Given the description of an element on the screen output the (x, y) to click on. 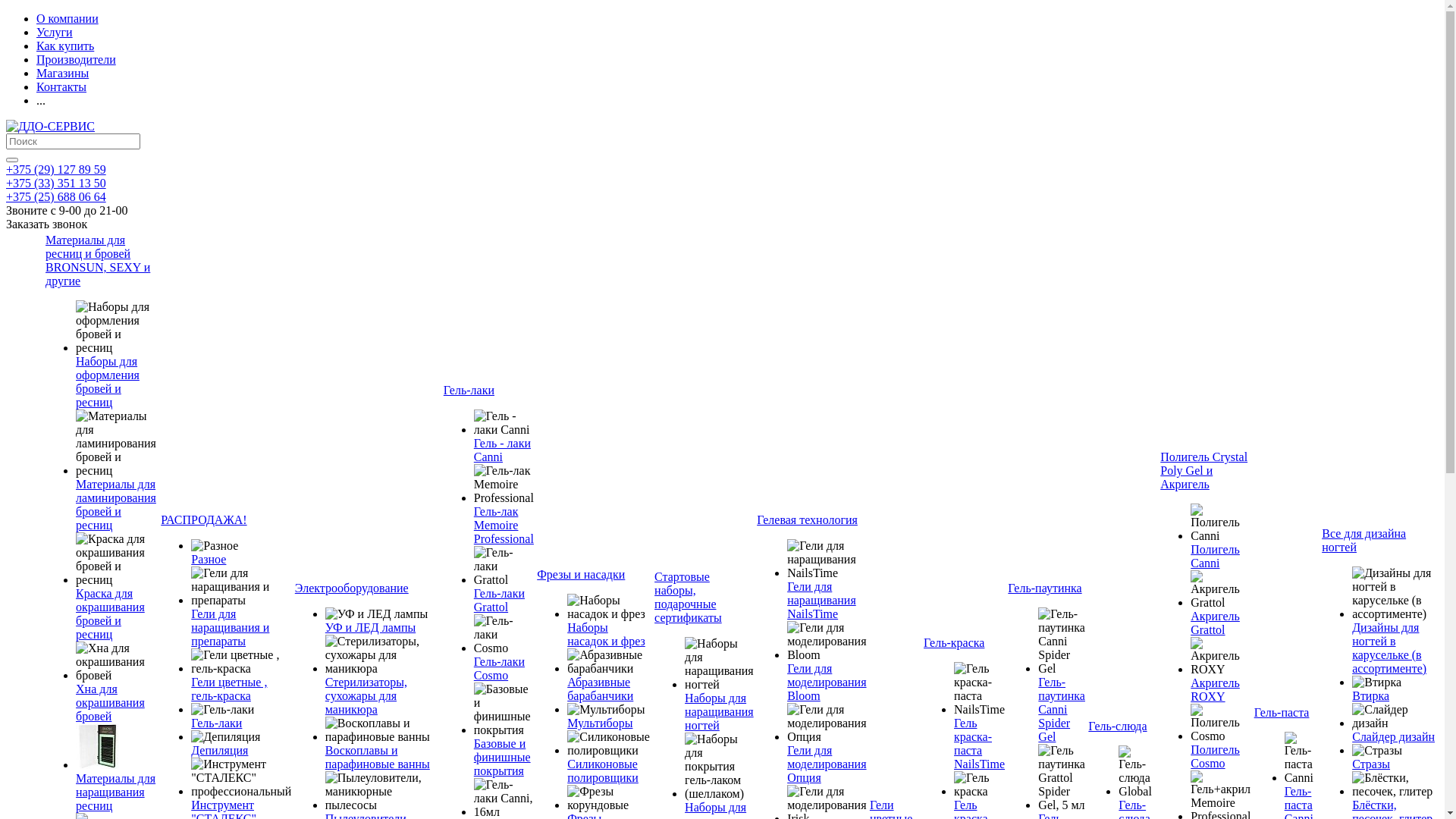
+375 (29) 127 89 59 Element type: text (56, 169)
+375 (33) 351 13 50 Element type: text (56, 182)
+375 (25) 688 06 64 Element type: text (56, 196)
